Given the description of an element on the screen output the (x, y) to click on. 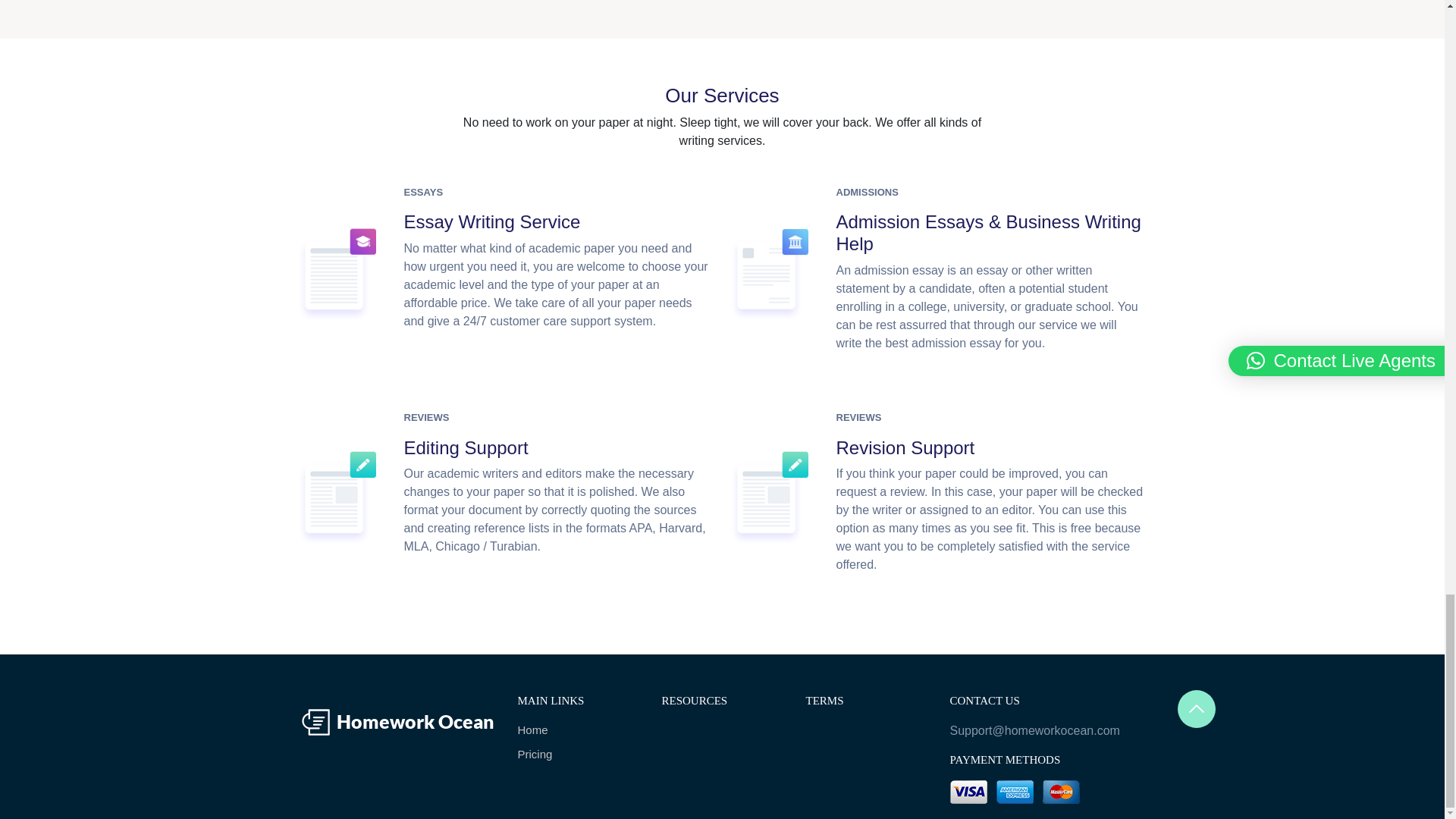
Pricing (577, 754)
Home (577, 730)
